Given the description of an element on the screen output the (x, y) to click on. 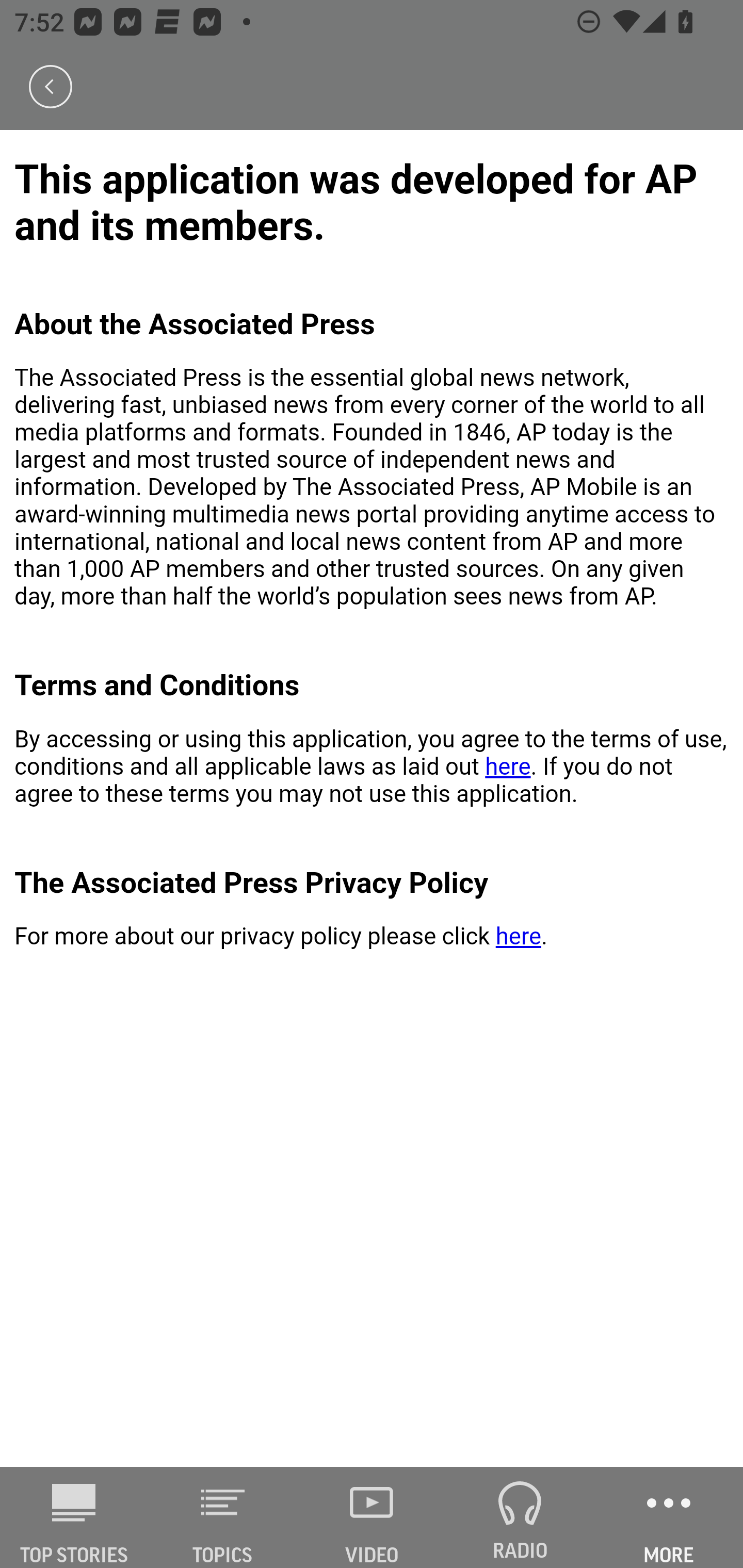
here (507, 766)
here (517, 936)
AP News TOP STORIES (74, 1517)
TOPICS (222, 1517)
VIDEO (371, 1517)
RADIO (519, 1517)
MORE (668, 1517)
